Given the description of an element on the screen output the (x, y) to click on. 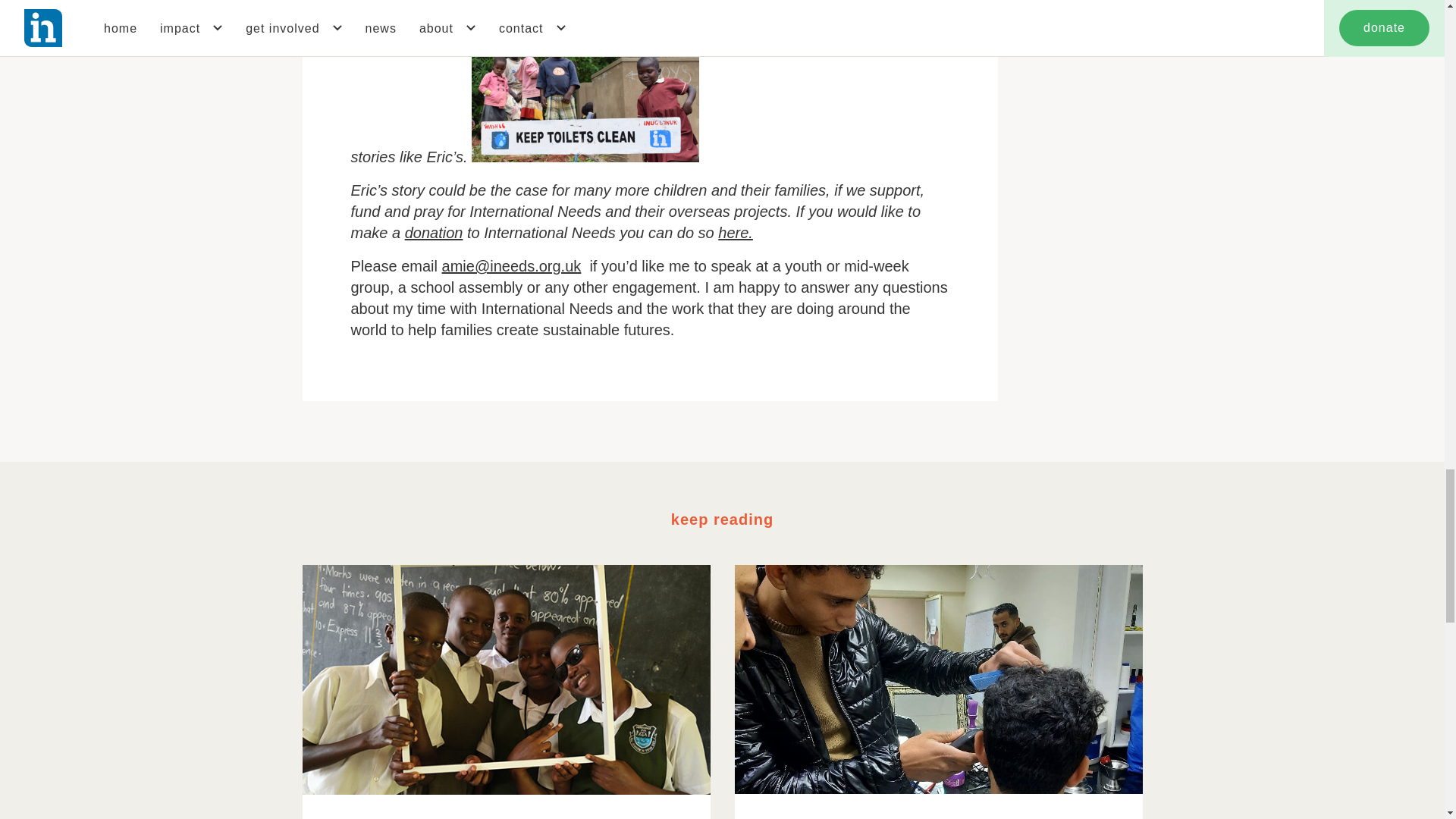
donation (433, 232)
here. (734, 232)
